Given the description of an element on the screen output the (x, y) to click on. 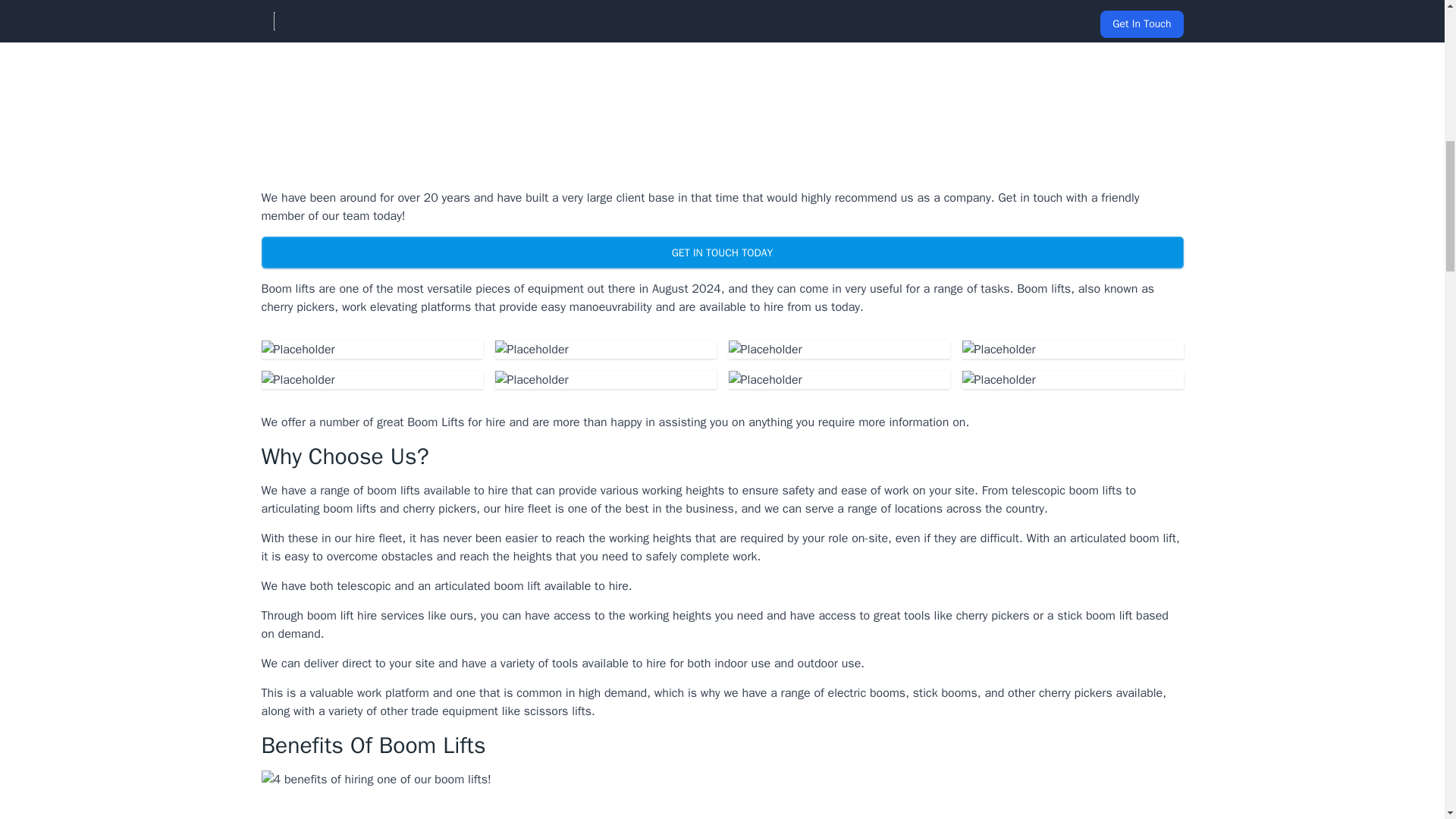
GET IN TOUCH TODAY (721, 252)
